Given the description of an element on the screen output the (x, y) to click on. 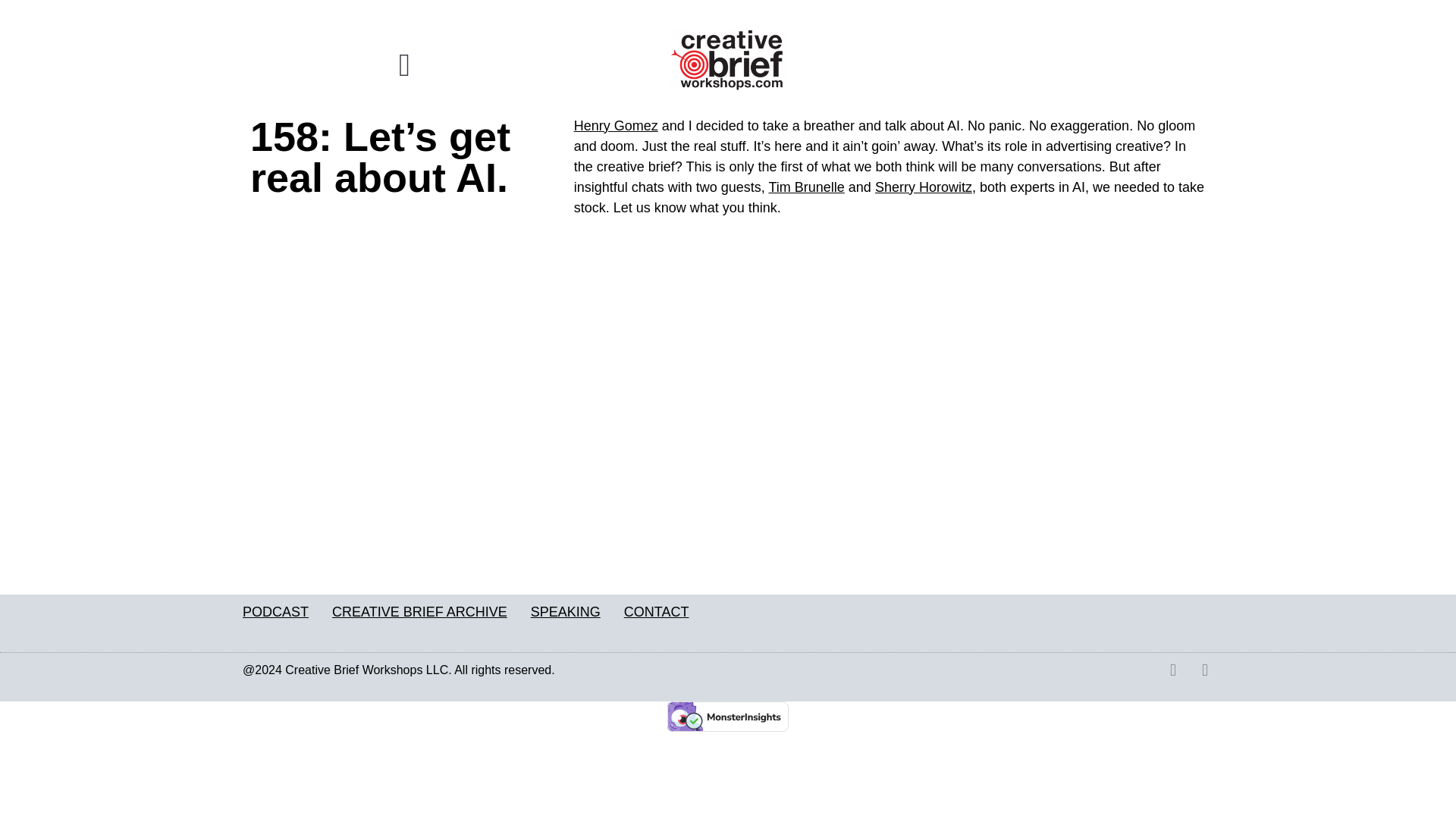
Henry Gomez (615, 125)
Tim Brunelle (806, 186)
Sherry Horowitz (923, 186)
SPEAKING (565, 611)
CONTACT (656, 611)
CREATIVE BRIEF ARCHIVE (418, 611)
PODCAST (275, 611)
Verified by MonsterInsights (727, 716)
